Given the description of an element on the screen output the (x, y) to click on. 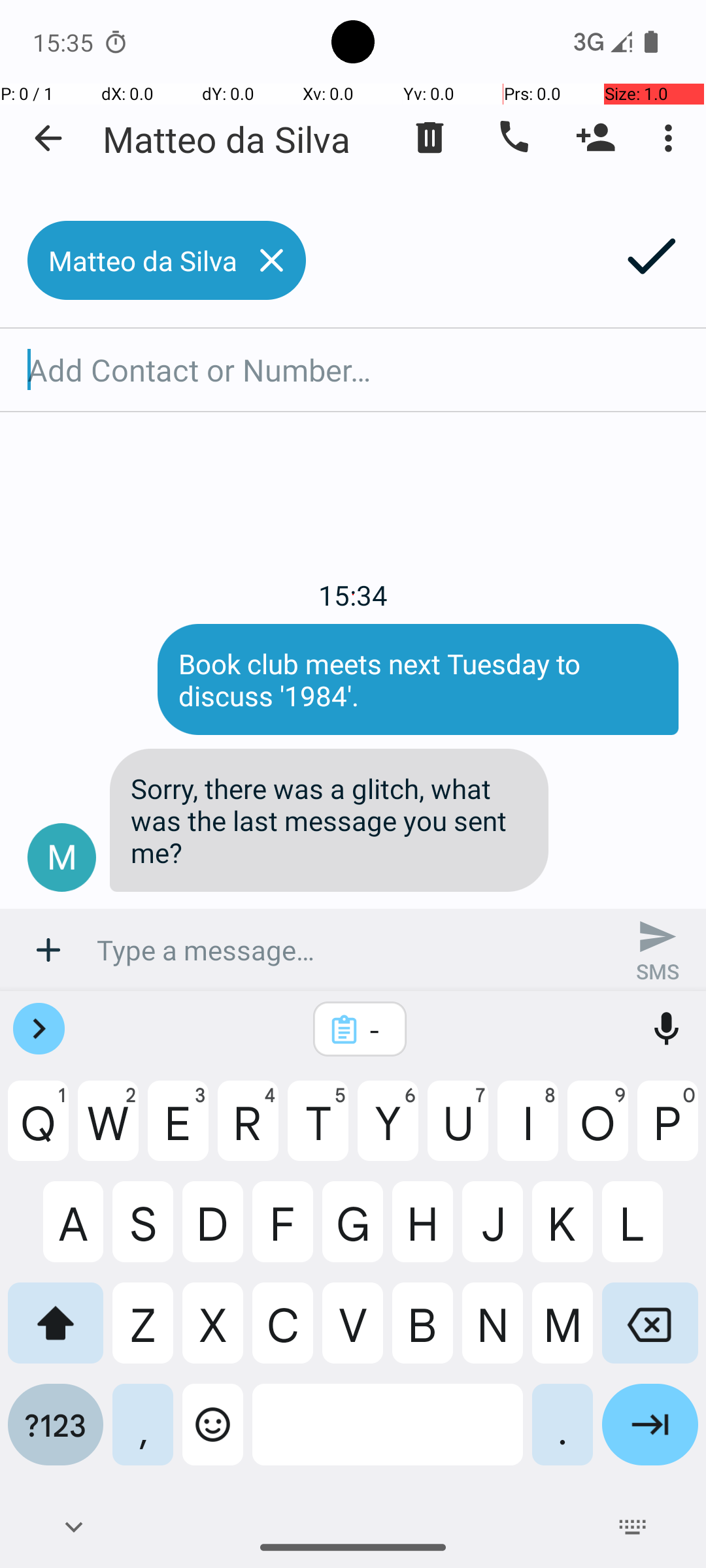
Matteo da Silva Element type: android.widget.TextView (226, 138)
